Given the description of an element on the screen output the (x, y) to click on. 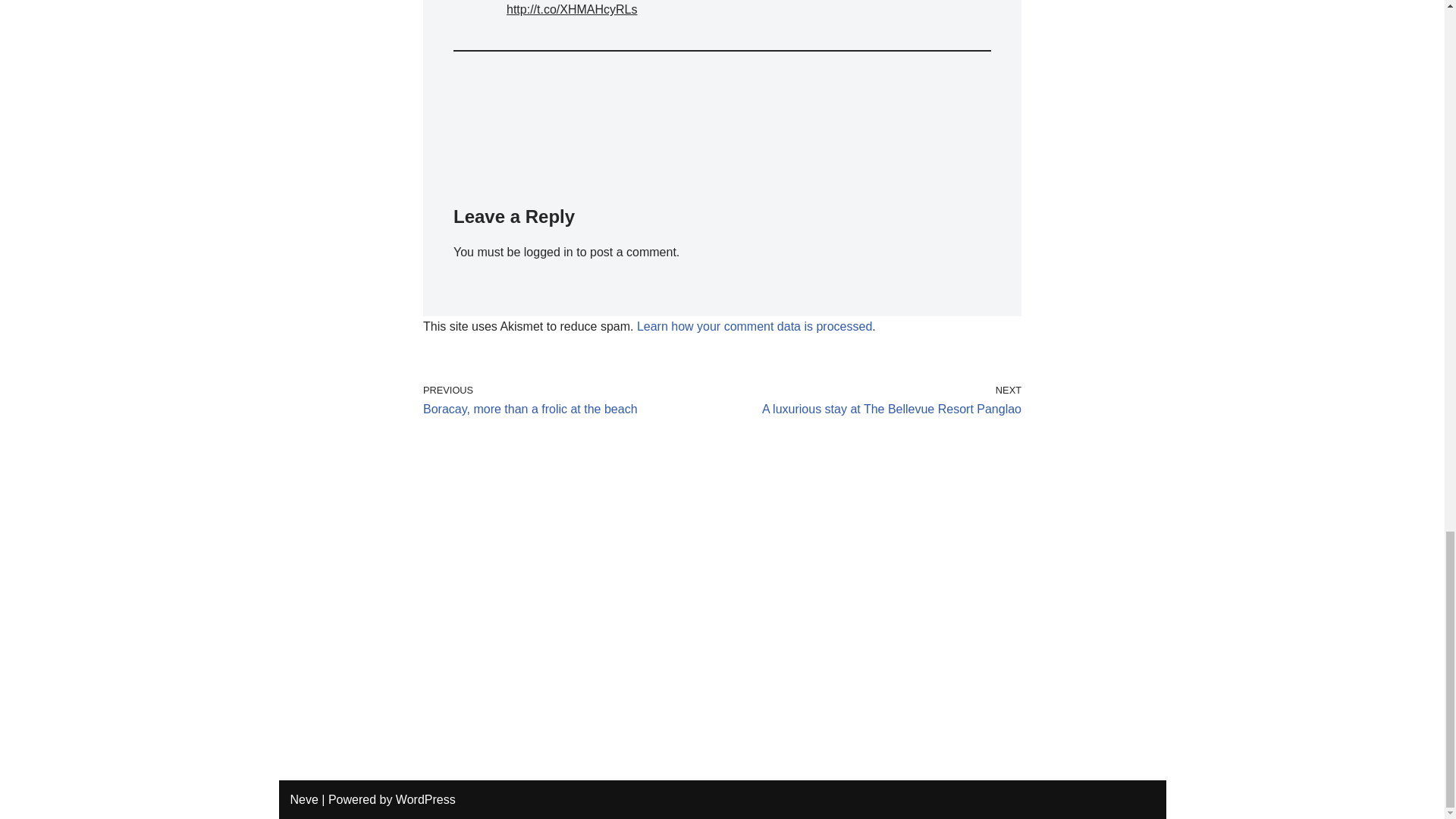
Neve (875, 400)
Learn how your comment data is processed (568, 400)
WordPress (303, 799)
logged in (754, 326)
